Given the description of an element on the screen output the (x, y) to click on. 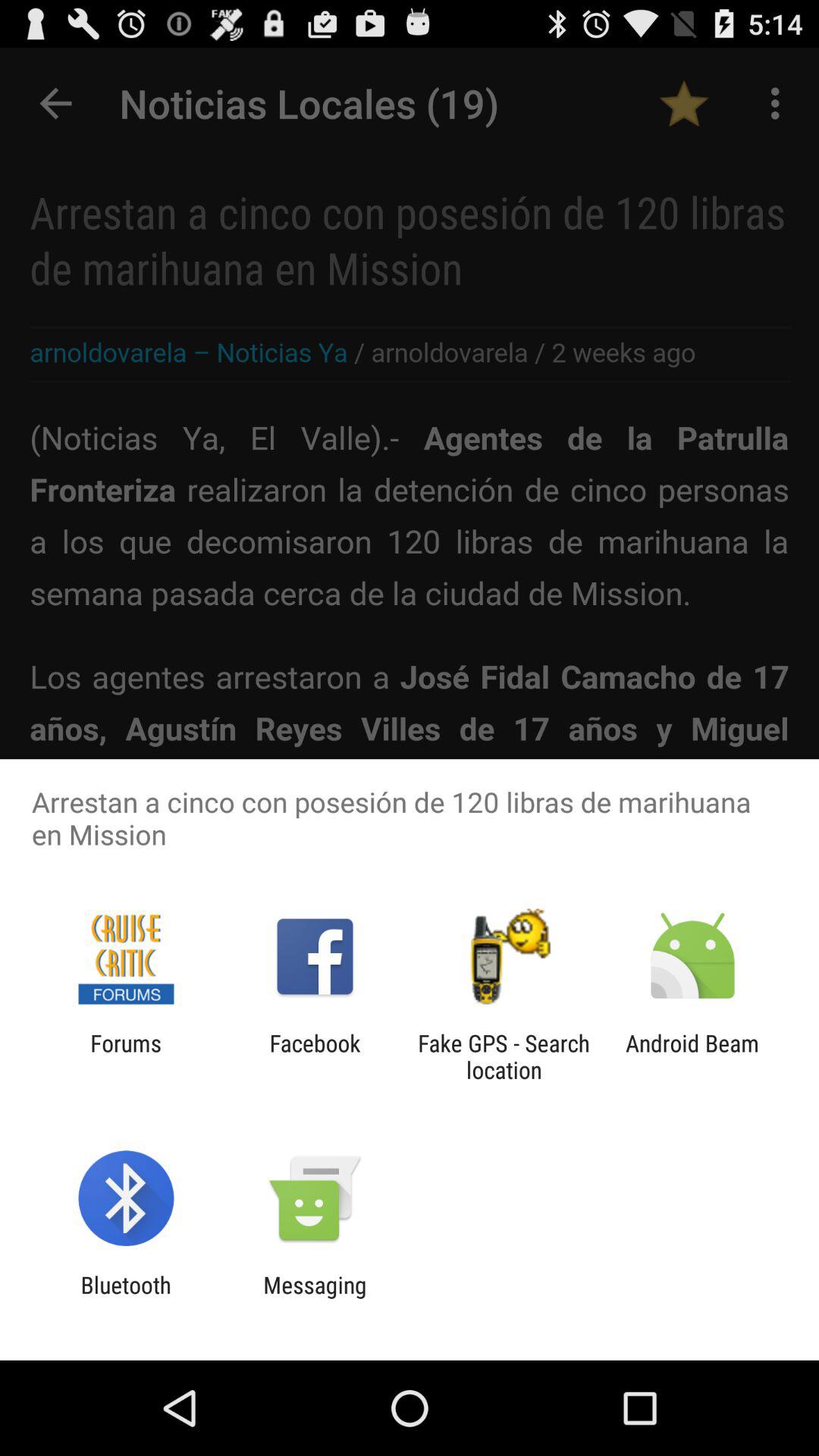
turn off item to the left of fake gps search icon (314, 1056)
